Given the description of an element on the screen output the (x, y) to click on. 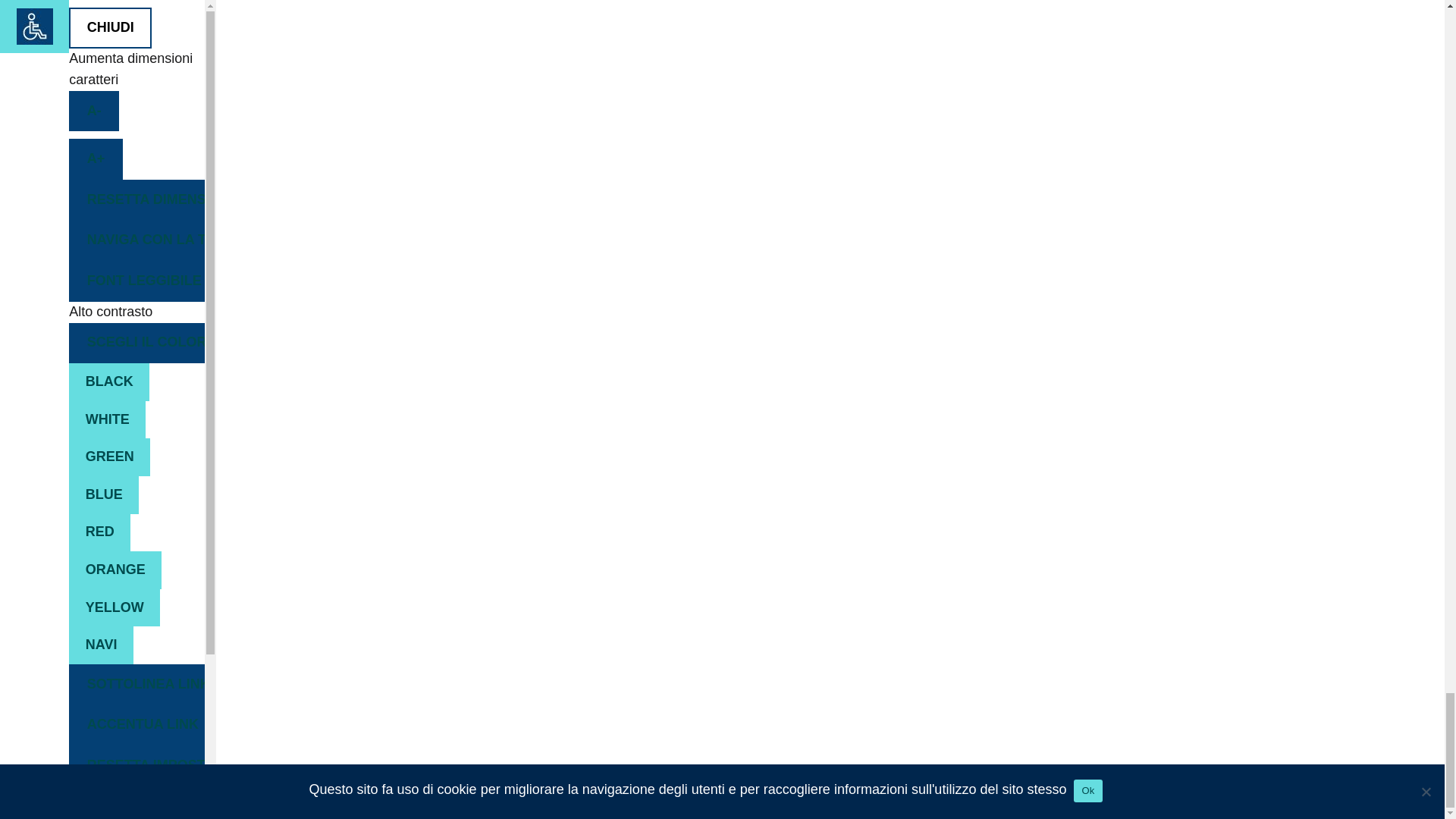
smaller font size (93, 110)
black (108, 382)
blue (103, 494)
red (99, 533)
Naviga con la tastiera (136, 240)
Chiudi (109, 27)
Accessibility Helper sidebar (34, 26)
larger font size (95, 158)
Font leggibile (136, 281)
A- (93, 110)
orange (114, 569)
RESETTA DIMENSIONI CARATTERI (136, 199)
Contrast (136, 342)
yellow (114, 607)
navi (100, 645)
